Given the description of an element on the screen output the (x, y) to click on. 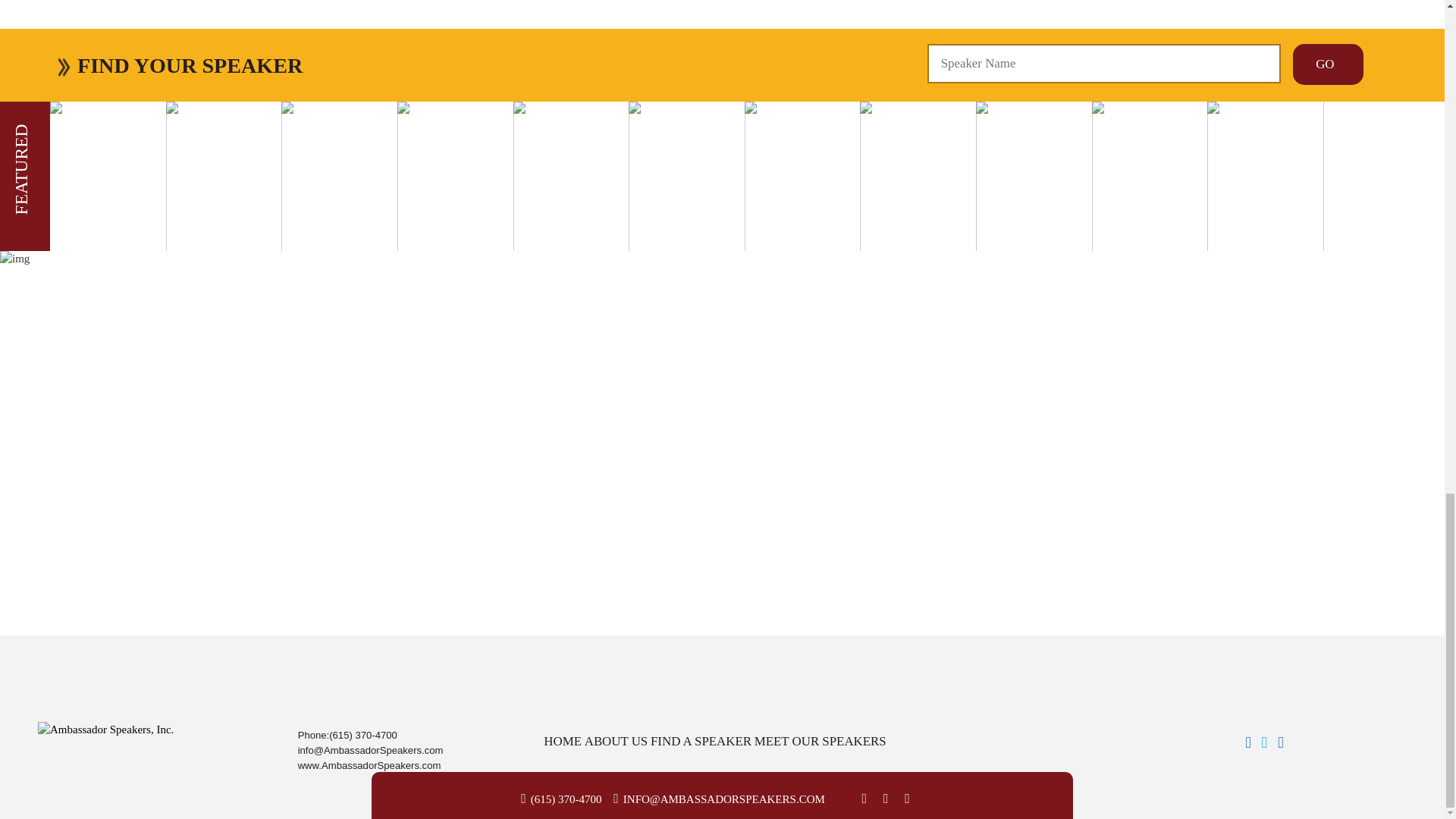
Former Abortion Industry (210, 64)
Pro-Life (131, 64)
EVENT REVIEWS (721, 166)
No (77, 654)
SCHEDULE THIS SPEAKER! (721, 151)
Annette Sosa-Rodriguez (165, 49)
Yes (77, 641)
Sarah Eubanks (87, 17)
BIOGRAPHY (721, 136)
